Given the description of an element on the screen output the (x, y) to click on. 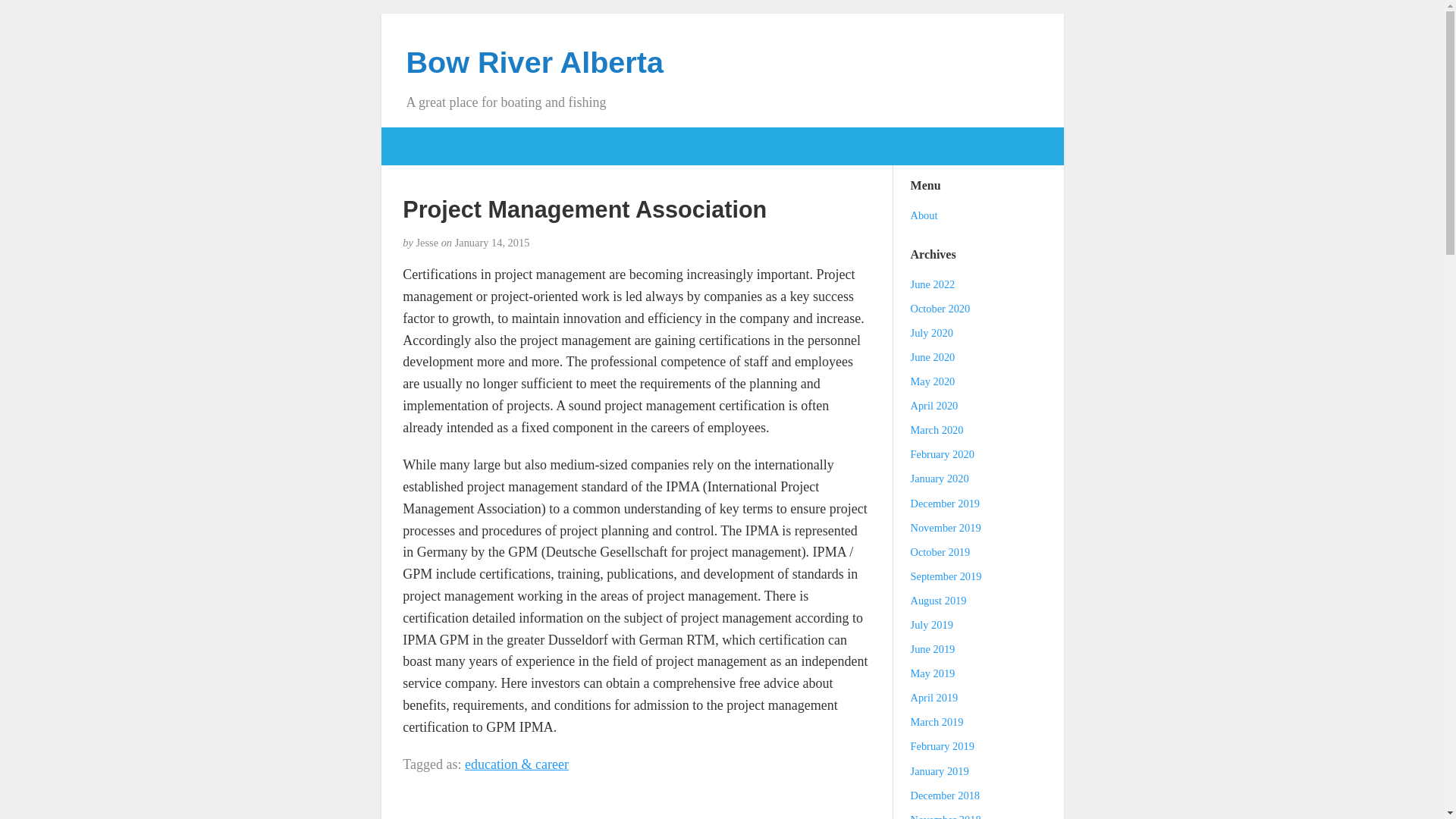
back to home (534, 61)
October 2019 (941, 551)
June 2019 (933, 648)
May 2020 (933, 381)
September 2019 (946, 576)
June 2020 (933, 357)
About (924, 215)
January 2019 (940, 770)
March 2020 (937, 429)
January 2020 (940, 478)
